Given the description of an element on the screen output the (x, y) to click on. 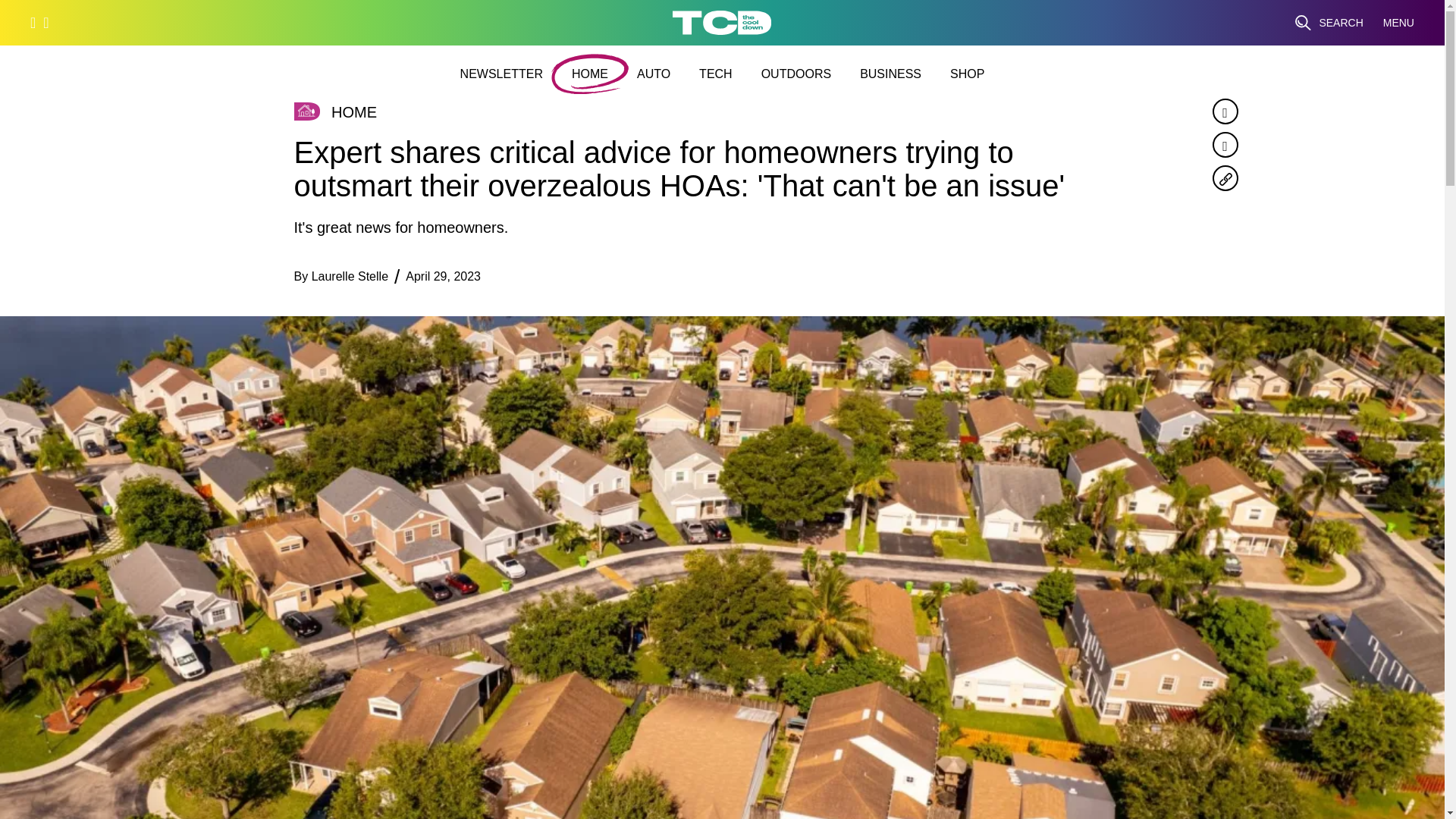
BUSINESS (890, 73)
Facebook (1224, 111)
MENU (1398, 22)
SEARCH (1328, 22)
HOME (590, 73)
NEWSLETTER (501, 73)
SHOP (967, 73)
TECH (715, 73)
Twitter (1224, 144)
OUTDOORS (796, 73)
